Given the description of an element on the screen output the (x, y) to click on. 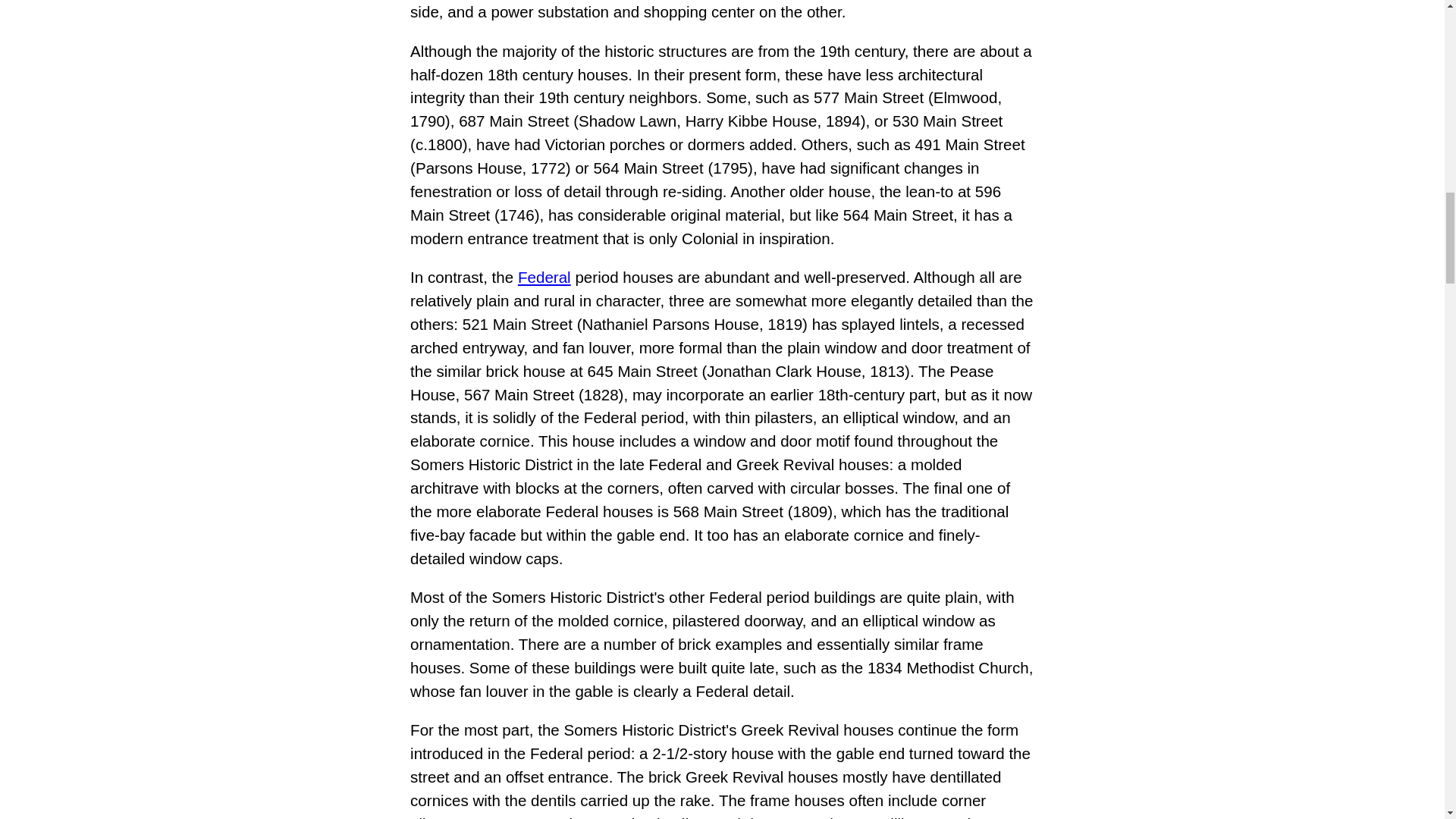
Federal (544, 276)
